Given the description of an element on the screen output the (x, y) to click on. 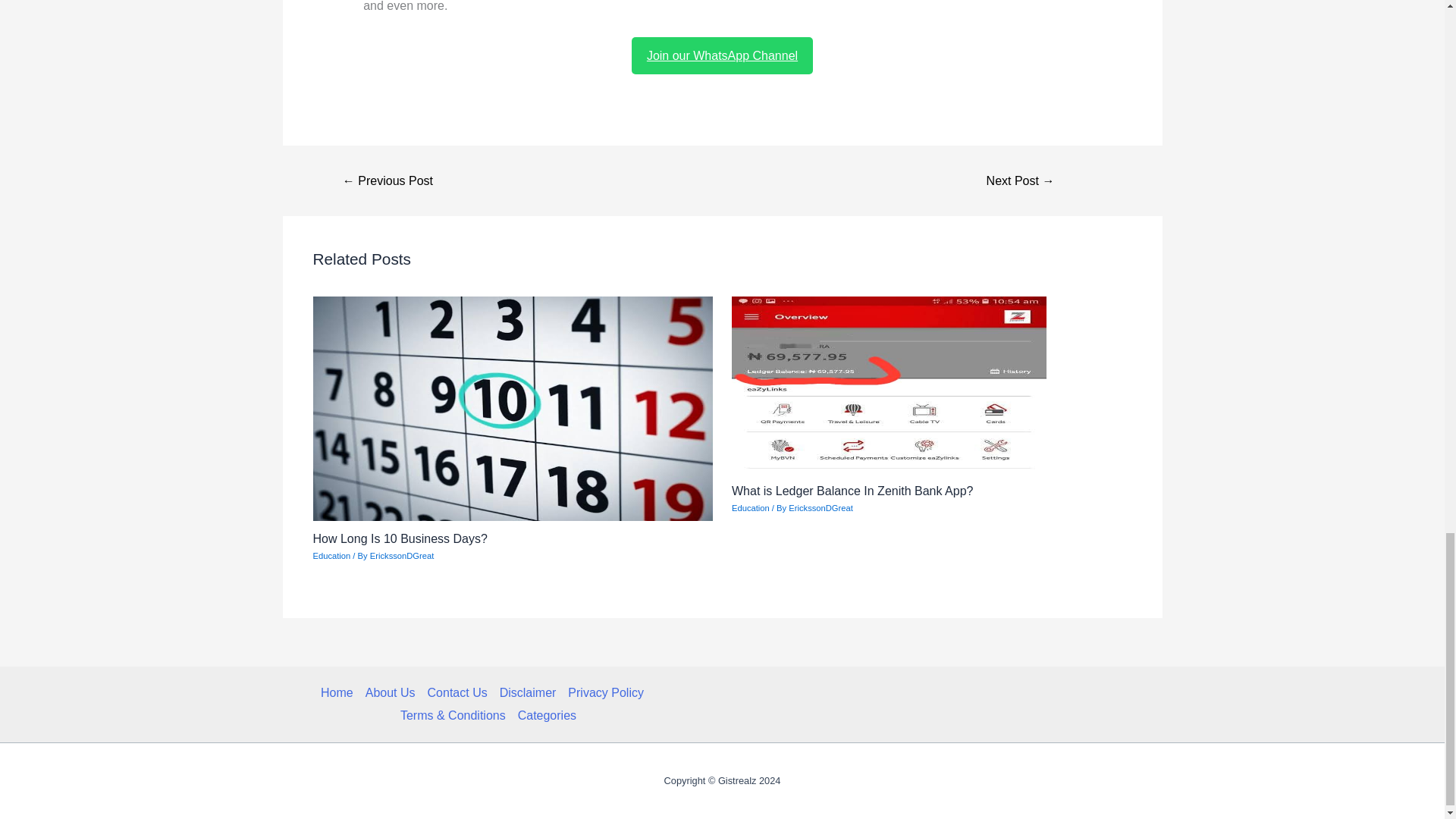
About Us (390, 692)
Education (751, 507)
Education (331, 555)
Home (339, 692)
ErickssonDGreat (821, 507)
How to Get Free Vouchers From The Jumia Cake Game (387, 181)
Contact Us (457, 692)
What is Ledger Balance In Zenith Bank App? (852, 490)
How Long Is 10 Business Days? (399, 538)
View all posts by ErickssonDGreat (821, 507)
